Given the description of an element on the screen output the (x, y) to click on. 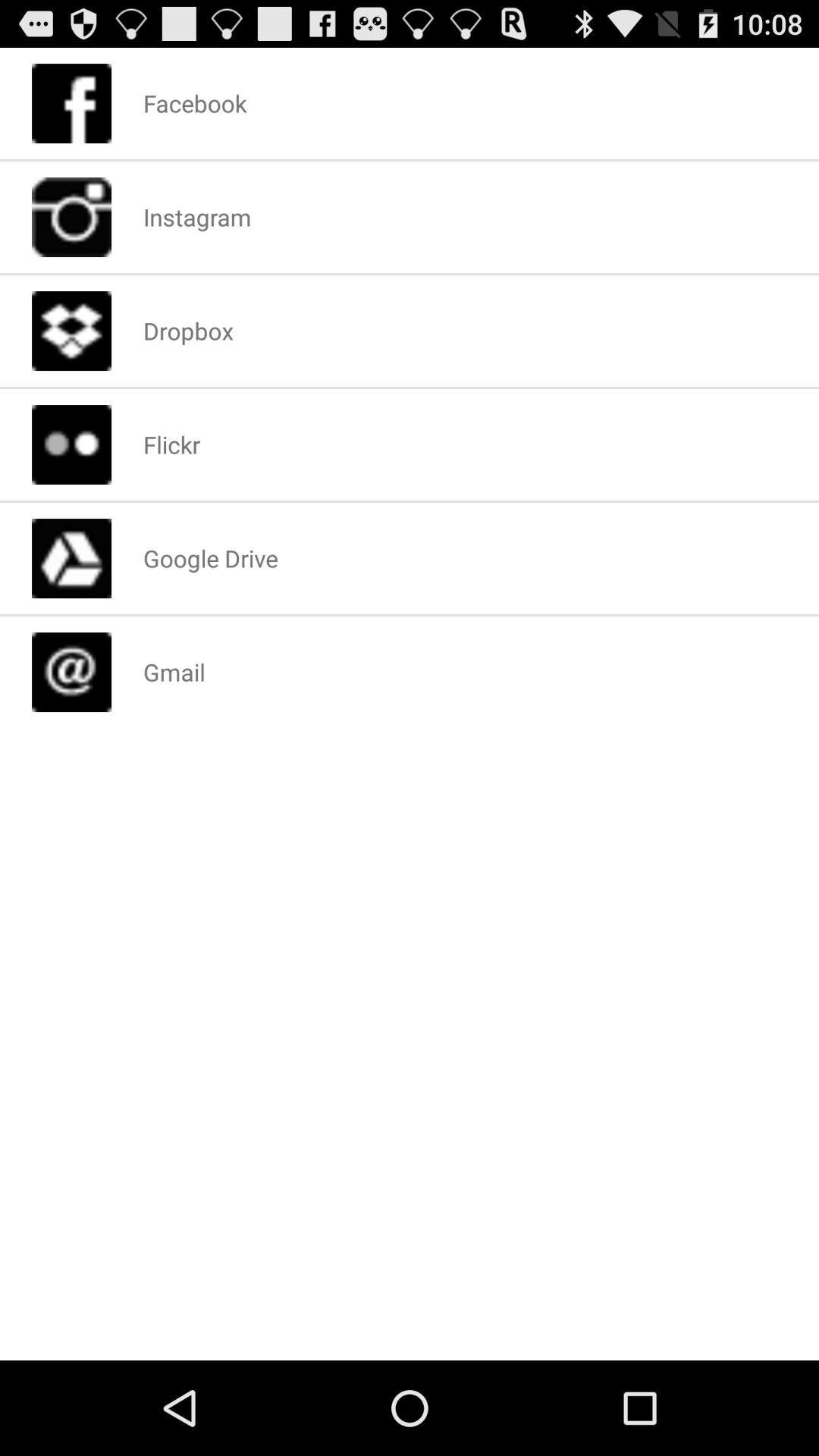
turn off the instagram item (197, 216)
